Given the description of an element on the screen output the (x, y) to click on. 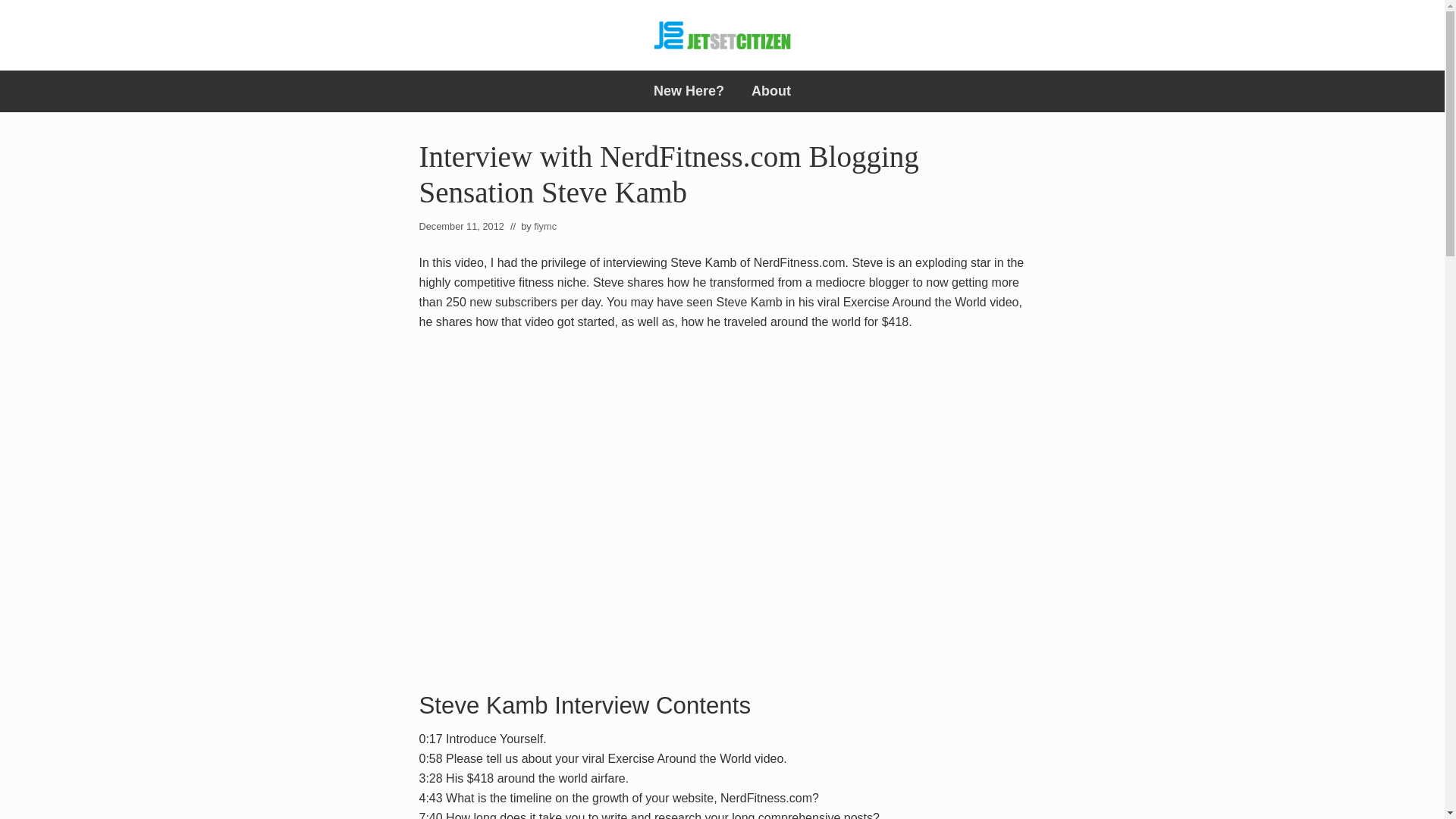
fiymc (545, 225)
New Here? (689, 91)
About (771, 91)
